Given the description of an element on the screen output the (x, y) to click on. 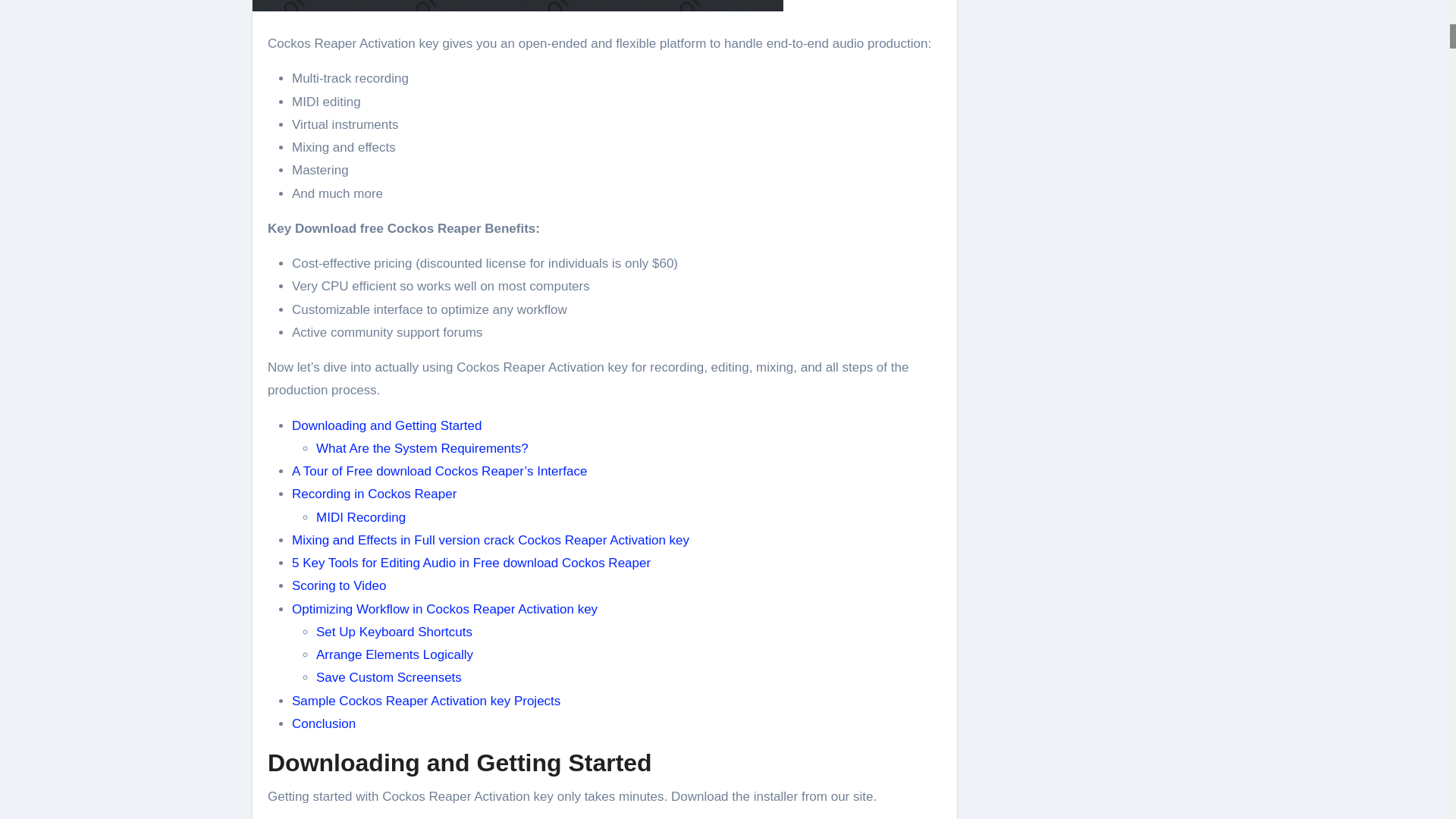
What Are the System Requirements? (421, 448)
Scoring to Video (338, 585)
Sample Cockos Reaper Activation key Projects (426, 700)
Downloading and Getting Started (386, 425)
Conclusion (323, 723)
Recording in Cockos Reaper (374, 493)
Set Up Keyboard Shortcuts (393, 631)
Save Custom Screensets (388, 677)
MIDI Recording (360, 517)
Arrange Elements Logically (394, 654)
Optimizing Workflow in Cockos Reaper Activation key (444, 608)
5 Key Tools for Editing Audio in Free download Cockos Reaper (471, 563)
